Given the description of an element on the screen output the (x, y) to click on. 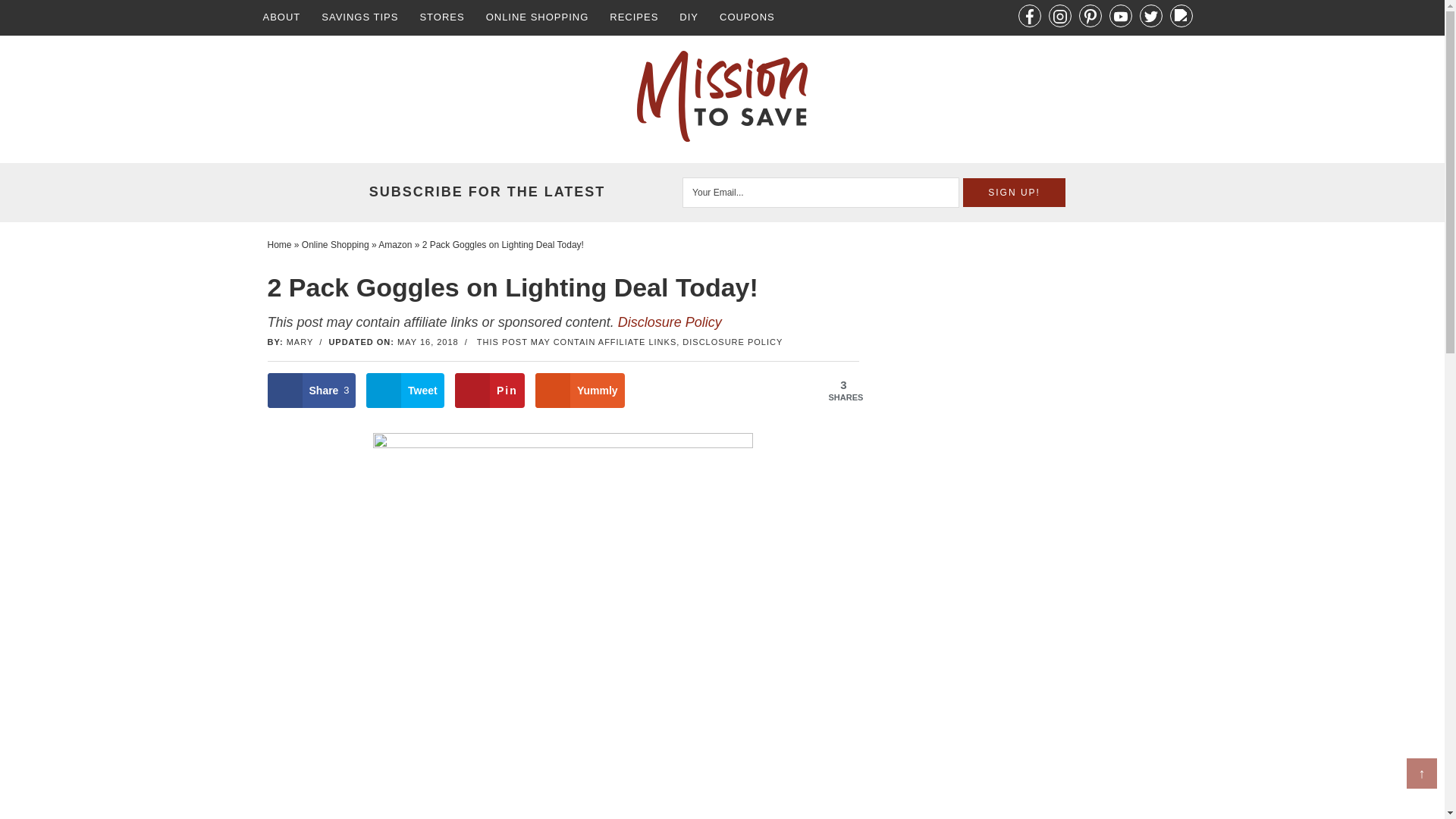
COUPONS (747, 18)
Share on Yummly (579, 390)
SAVINGS TIPS (360, 18)
RECIPES (633, 18)
Sign Up! (1013, 192)
Share on Facebook (310, 390)
ONLINE SHOPPING (537, 18)
Share on Twitter (405, 390)
Save to Pinterest (489, 390)
Disclosure Policy (669, 322)
DIY (688, 18)
ABOUT (281, 18)
STORES (441, 18)
